Given the description of an element on the screen output the (x, y) to click on. 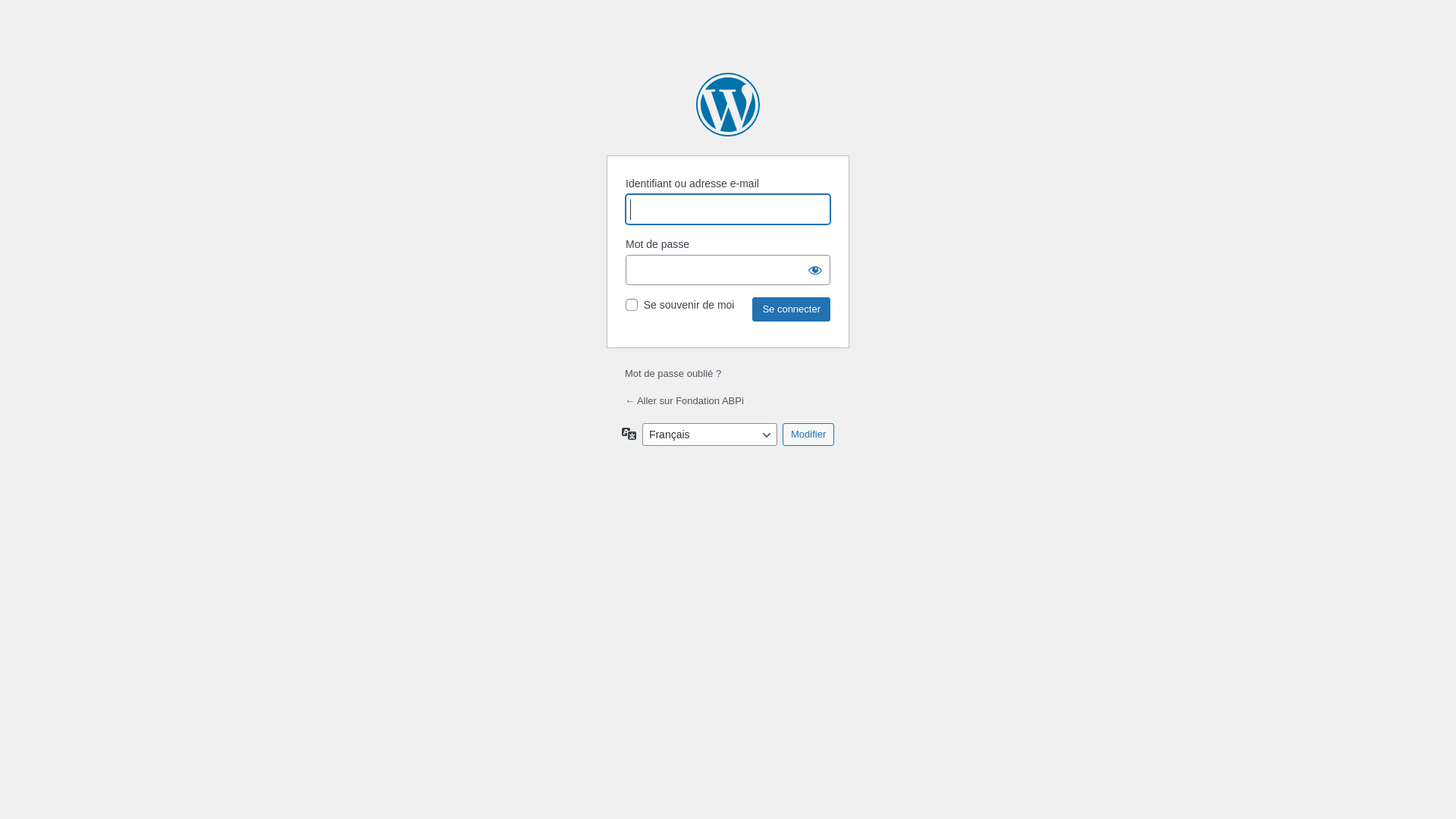
Modifier Element type: text (808, 434)
Se connecter Element type: text (791, 309)
